Given the description of an element on the screen output the (x, y) to click on. 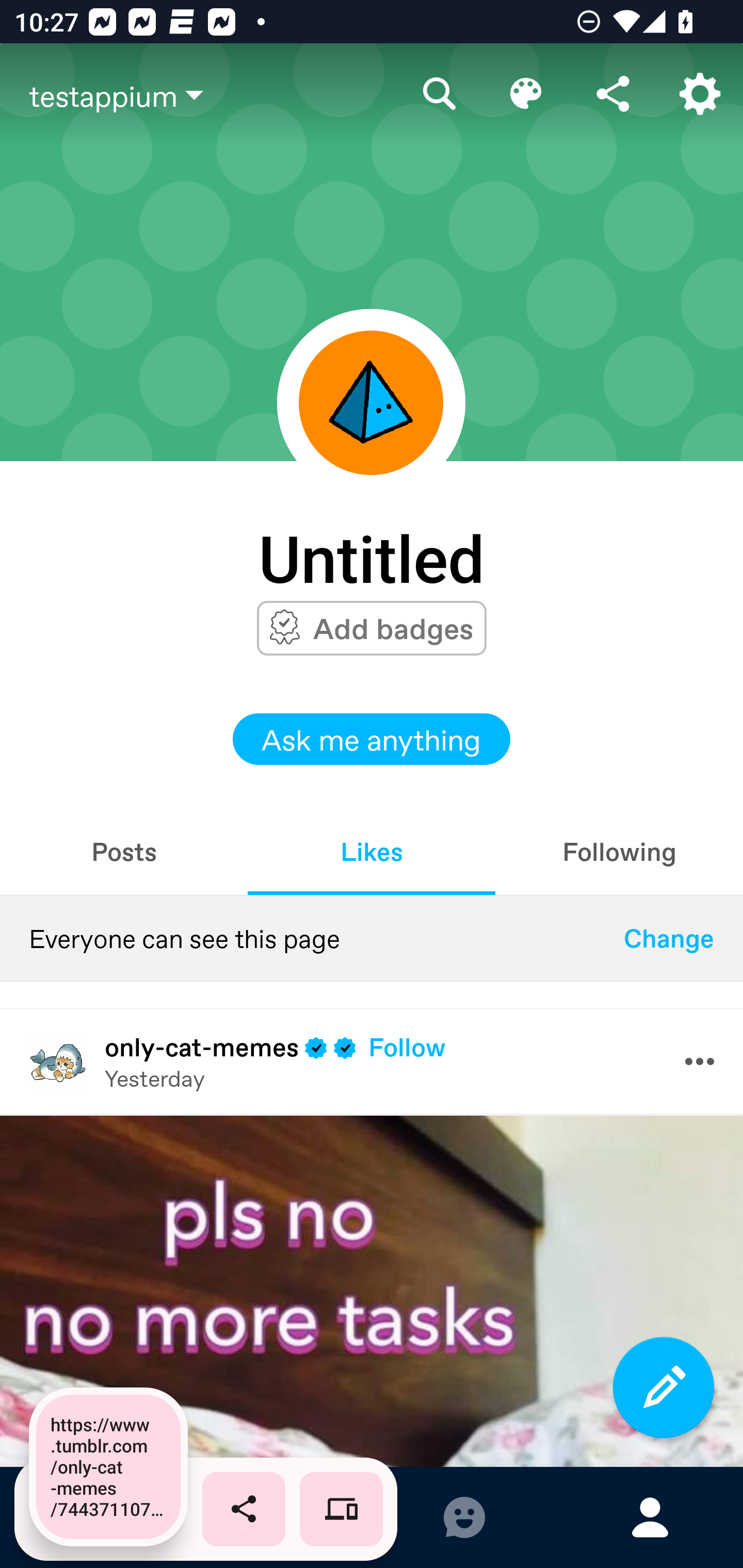
testappium (212, 95)
Search blog (439, 93)
Edit (525, 93)
Share (612, 93)
Account (699, 93)
Avatar frame (371, 402)
Add badges (393, 627)
Ask me anything (371, 739)
Posts (123, 851)
Following (619, 851)
Change (669, 938)
Follow (406, 1046)
Compose a new post (663, 1387)
DASHBOARD (92, 1517)
EXPLORE (278, 1517)
MESSAGES (464, 1517)
ACCOUNT (650, 1517)
